Given the description of an element on the screen output the (x, y) to click on. 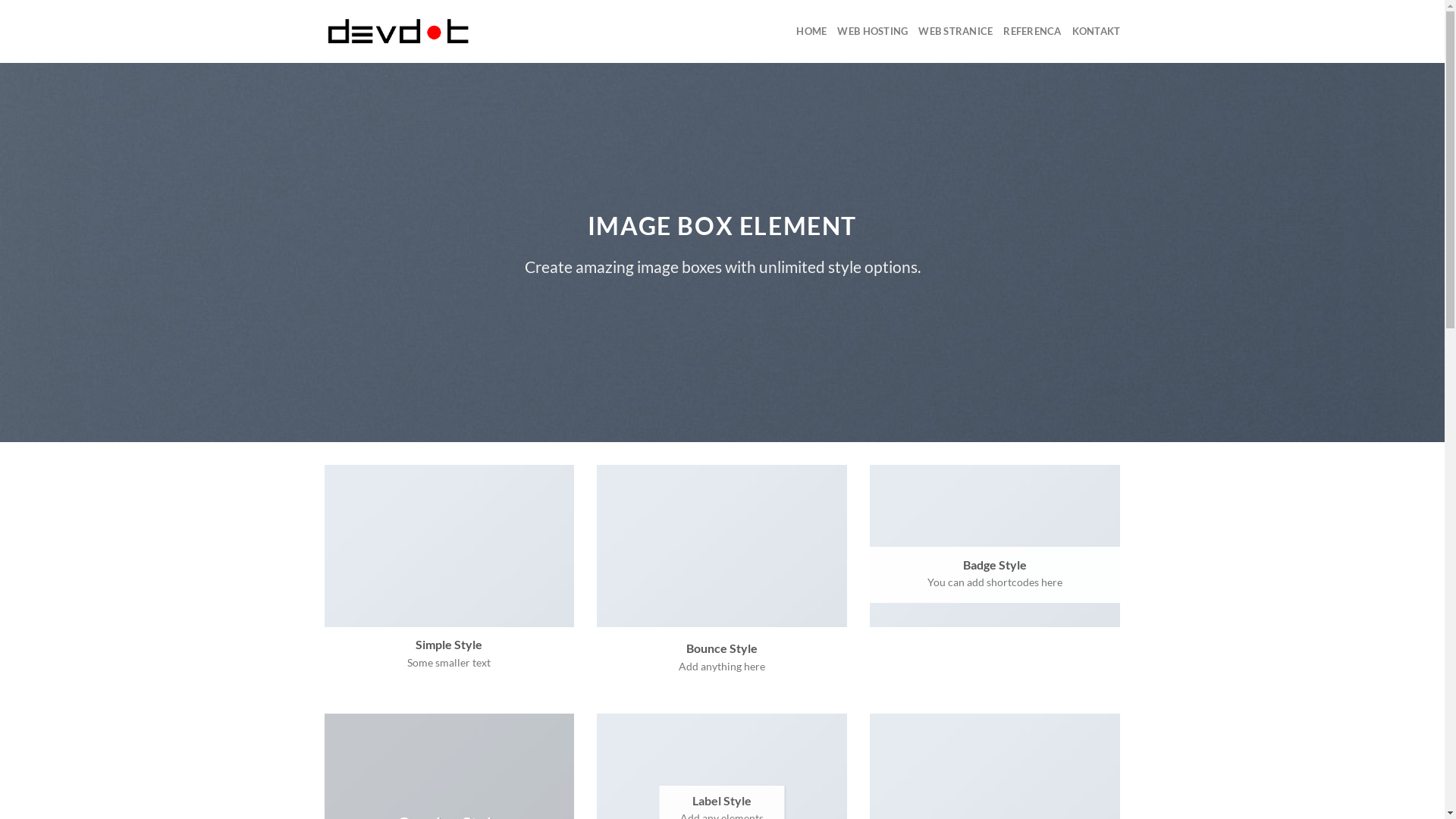
Dev Dot - Web hosting | Web dizajn Element type: hover (400, 31)
WEB HOSTING Element type: text (872, 30)
HOME Element type: text (811, 30)
WEB STRANICE Element type: text (955, 30)
KONTAKT Element type: text (1096, 30)
REFERENCA Element type: text (1031, 30)
